Given the description of an element on the screen output the (x, y) to click on. 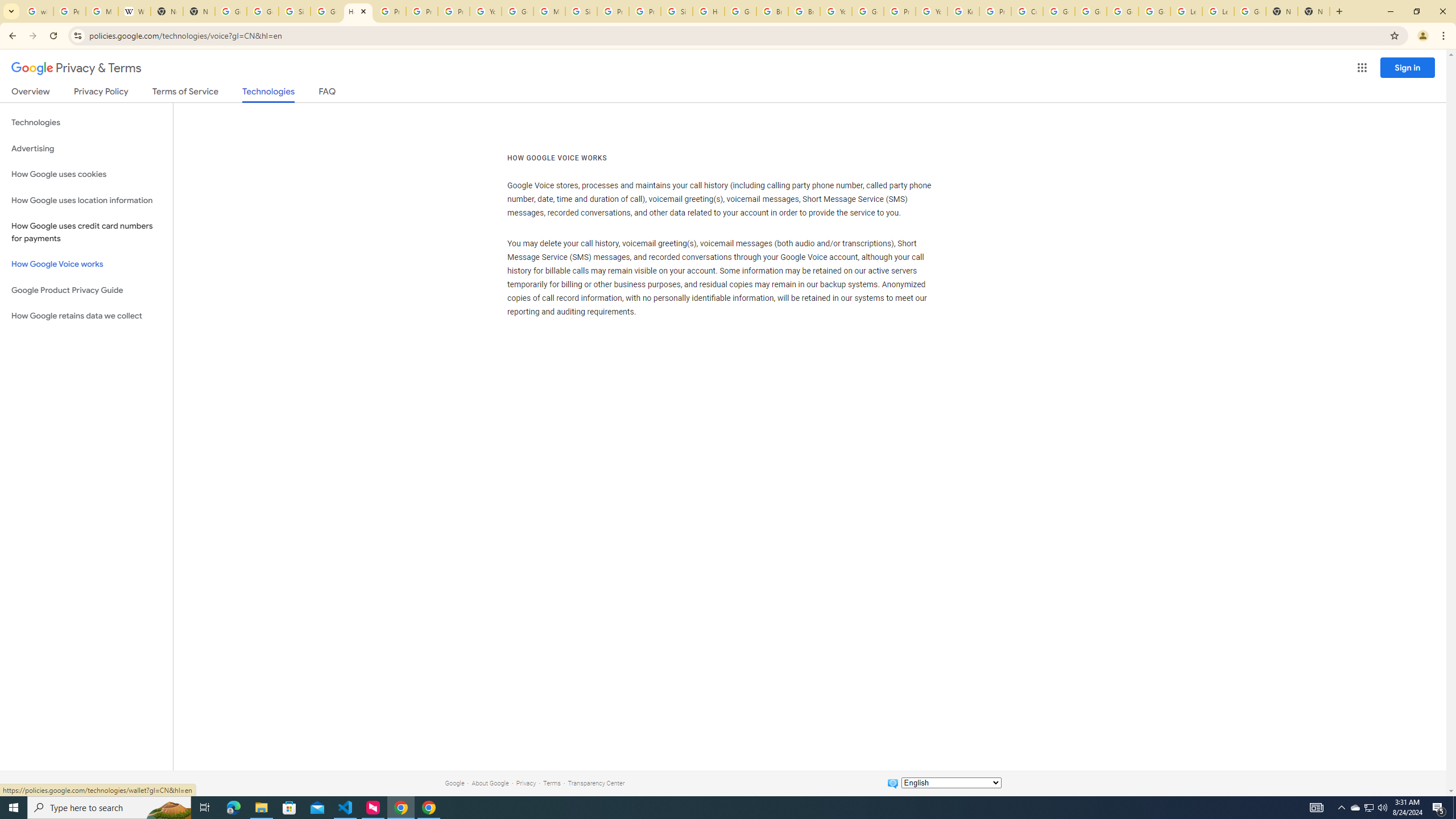
Manage your Location History - Google Search Help (101, 11)
Advertising (86, 148)
YouTube (931, 11)
Google Account Help (1059, 11)
About Google (490, 783)
Brand Resource Center (772, 11)
Sign in - Google Accounts (581, 11)
Transparency Center (595, 783)
How Google retains data we collect (86, 316)
